Given the description of an element on the screen output the (x, y) to click on. 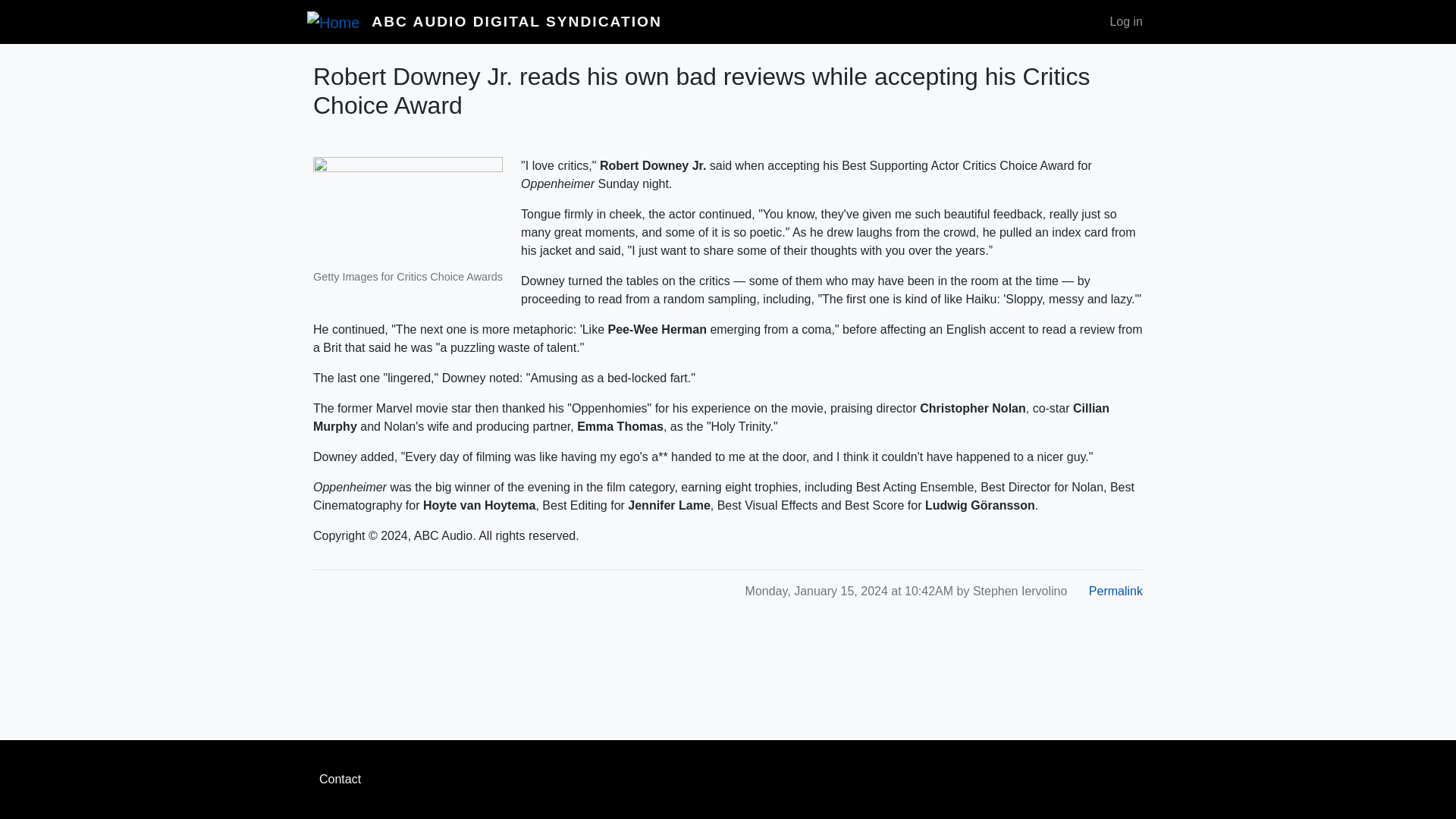
Contact (727, 779)
Permalink (1115, 590)
Log in (1125, 21)
Home (516, 21)
ABC AUDIO DIGITAL SYNDICATION (516, 21)
Home (339, 21)
